Given the description of an element on the screen output the (x, y) to click on. 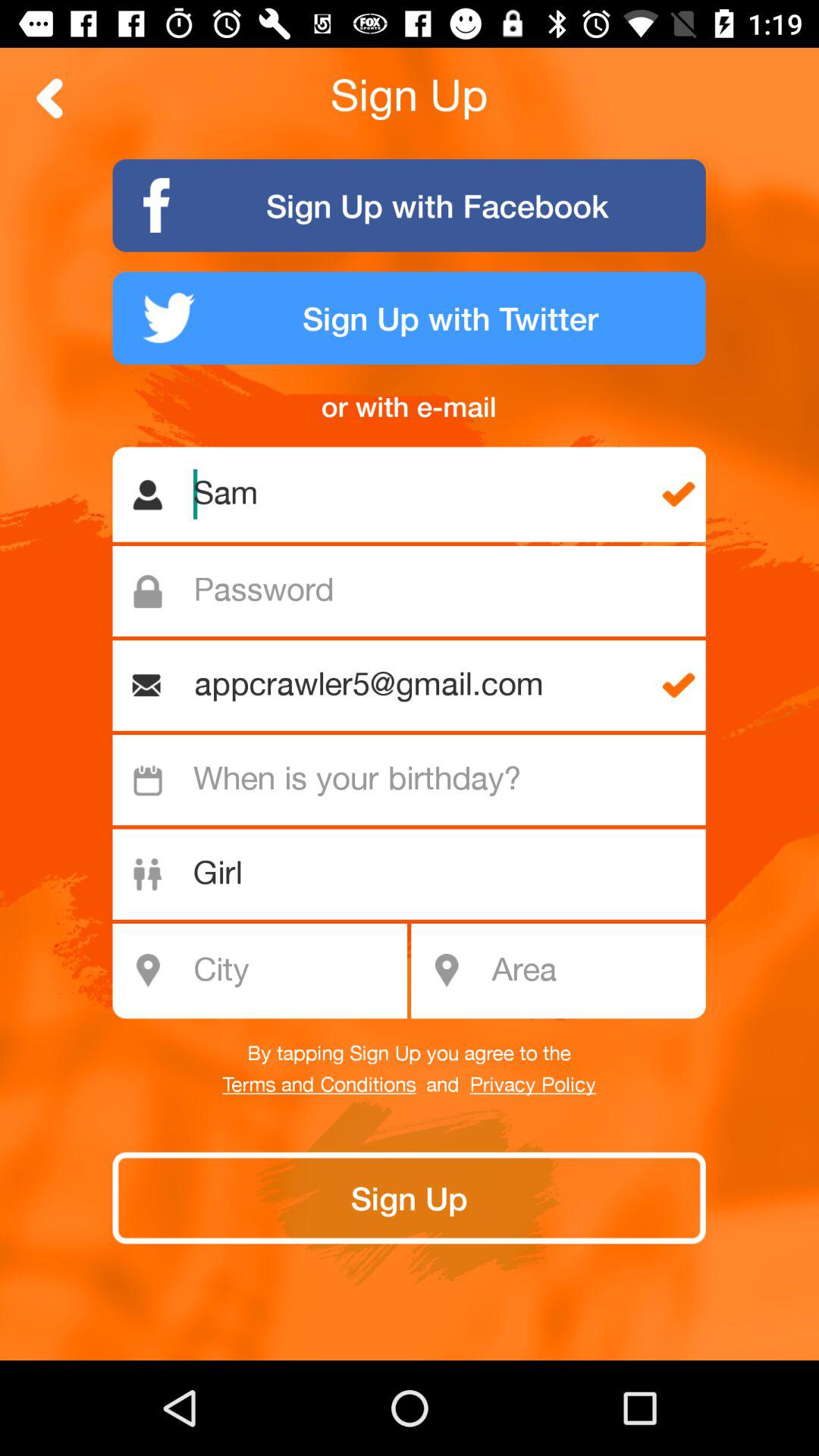
enter city (268, 970)
